Given the description of an element on the screen output the (x, y) to click on. 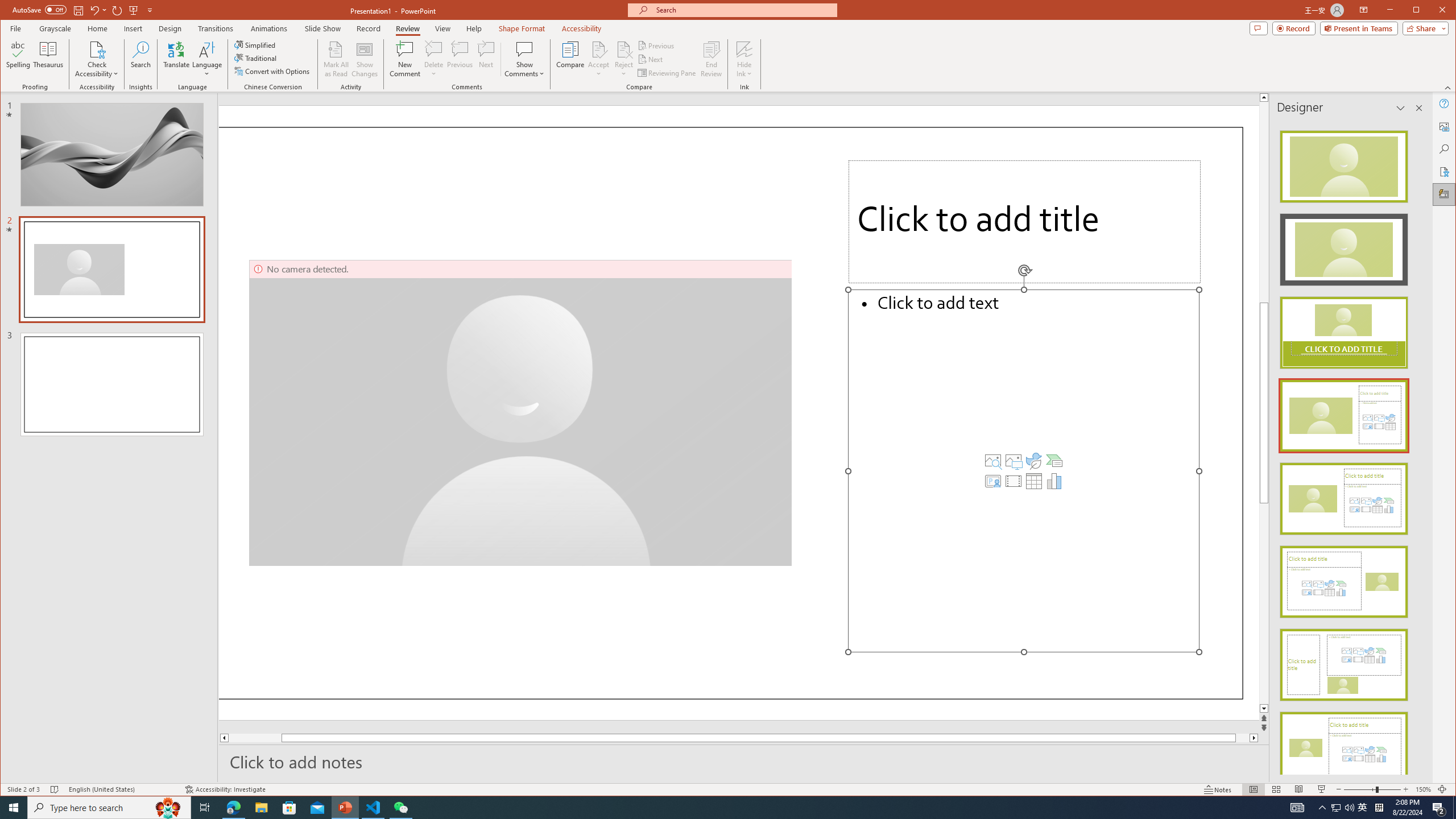
Accept Change (598, 48)
Reviewing Pane (667, 72)
